Given the description of an element on the screen output the (x, y) to click on. 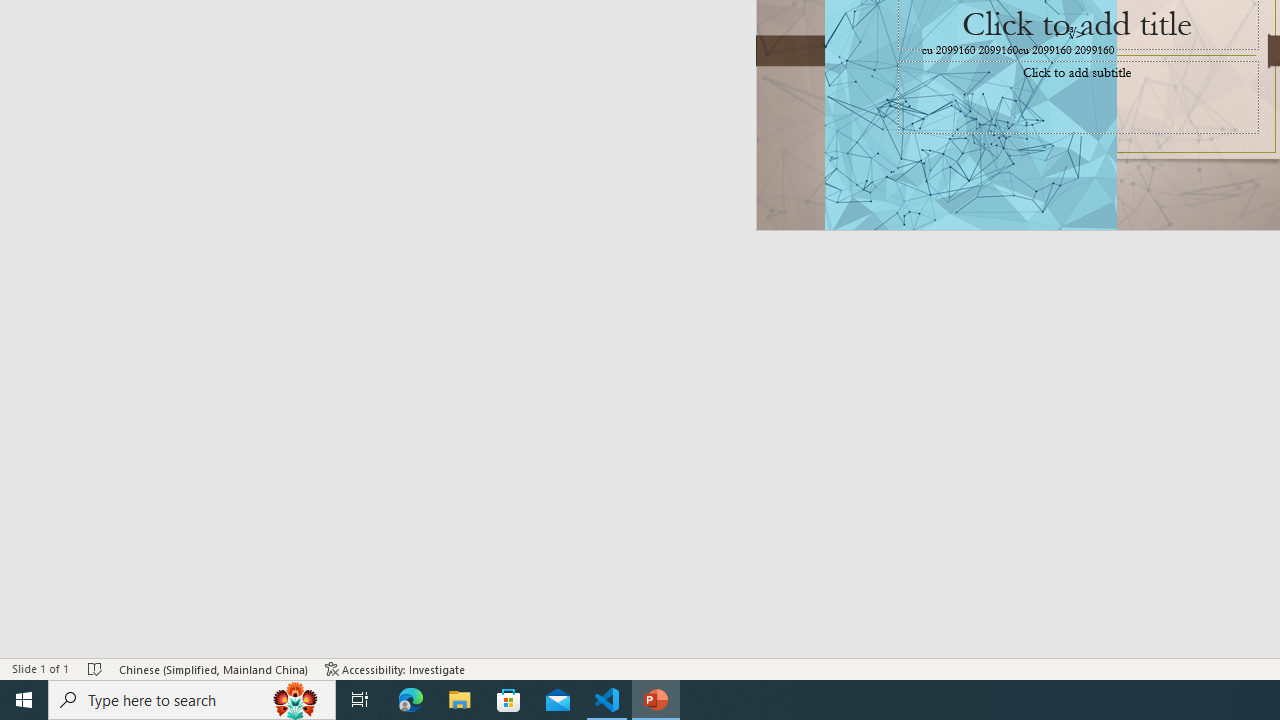
TextBox 61 (1074, 51)
Subtitle TextBox (1078, 97)
Accessibility Checker Accessibility: Investigate (395, 668)
TextBox 7 (1069, 33)
